Given the description of an element on the screen output the (x, y) to click on. 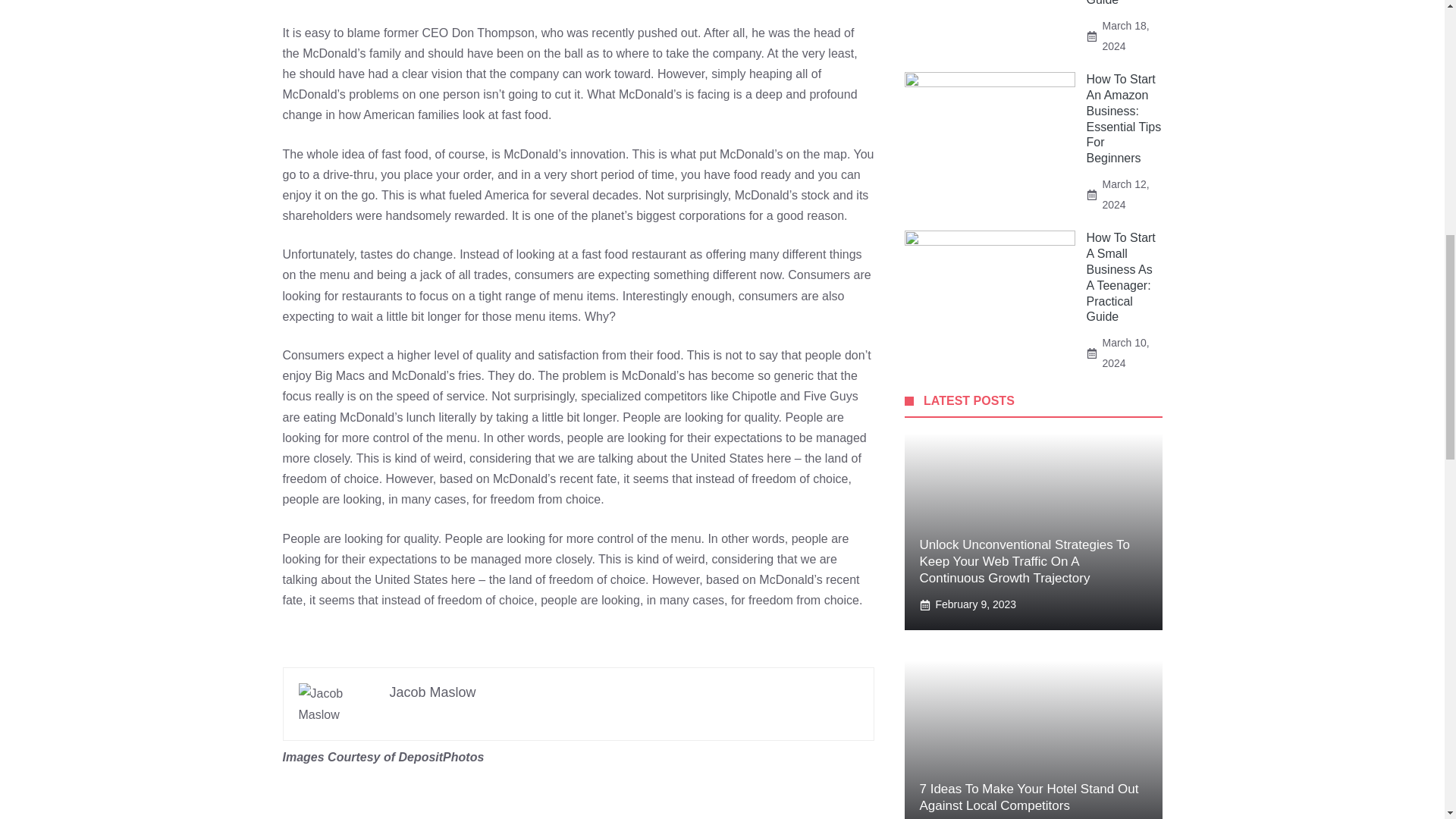
Jacob Maslow (433, 692)
How to Start a Dance Studio: Your Step-by-Step Success Guide (1121, 2)
DepositPhotos (440, 757)
Scroll back to top (1406, 720)
